Given the description of an element on the screen output the (x, y) to click on. 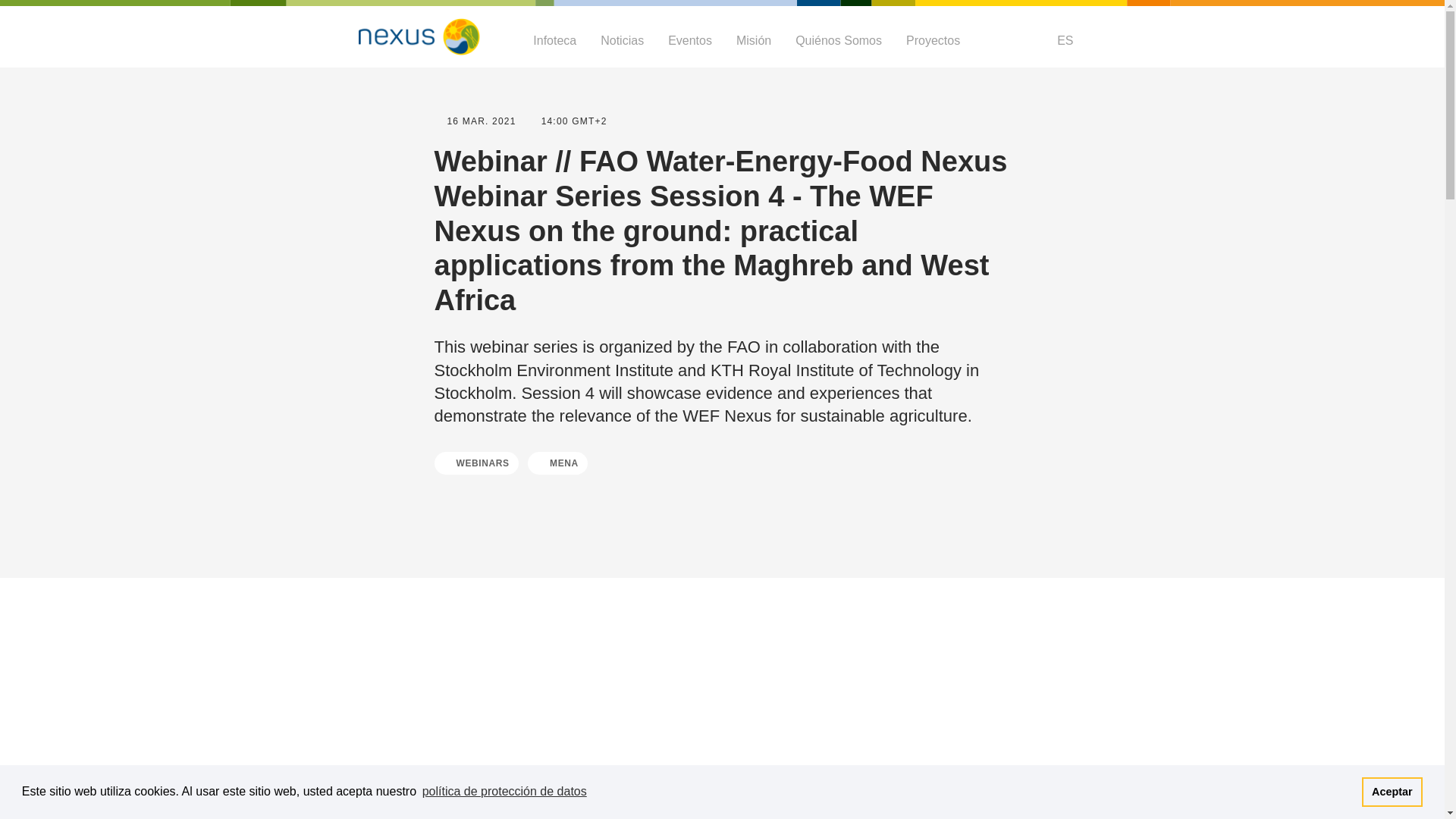
ES (1062, 40)
Infoteca (554, 40)
Noticias (621, 40)
Aceptar (1392, 791)
Eventos (689, 40)
